Given the description of an element on the screen output the (x, y) to click on. 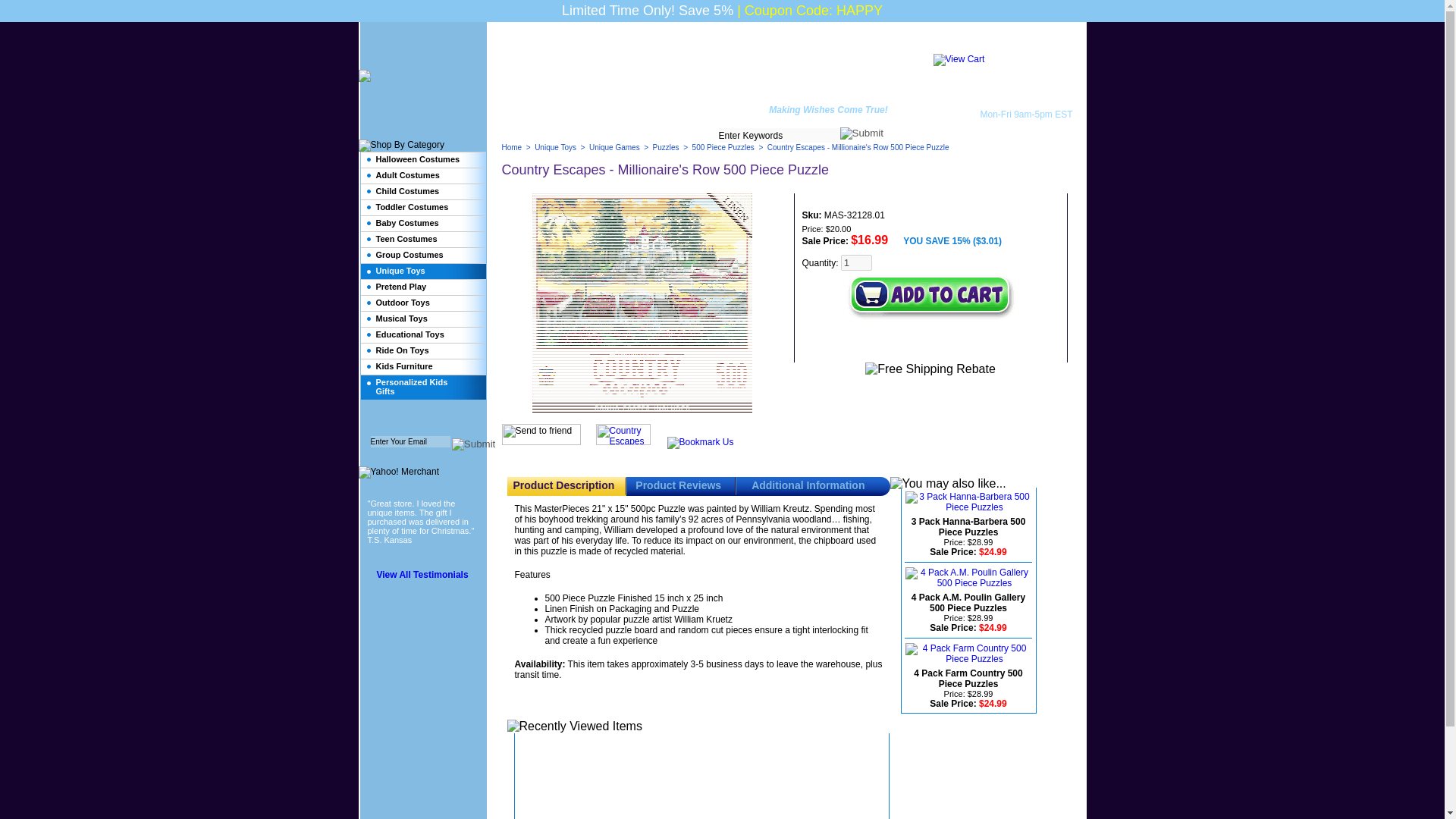
Enter Keywords (779, 134)
Customer Care (979, 45)
Additional Information (807, 485)
Home (885, 45)
Enter Your Email (409, 441)
500 Piece Puzzles (723, 147)
bookmark this page (699, 441)
Unique Toys (555, 147)
Contact (922, 45)
4 Pack A.M. Poulin Gallery 500 Piece Puzzles (968, 602)
Search (861, 133)
Unique Toys (822, 84)
1 (856, 262)
Order Status (1047, 45)
Home (512, 147)
